Given the description of an element on the screen output the (x, y) to click on. 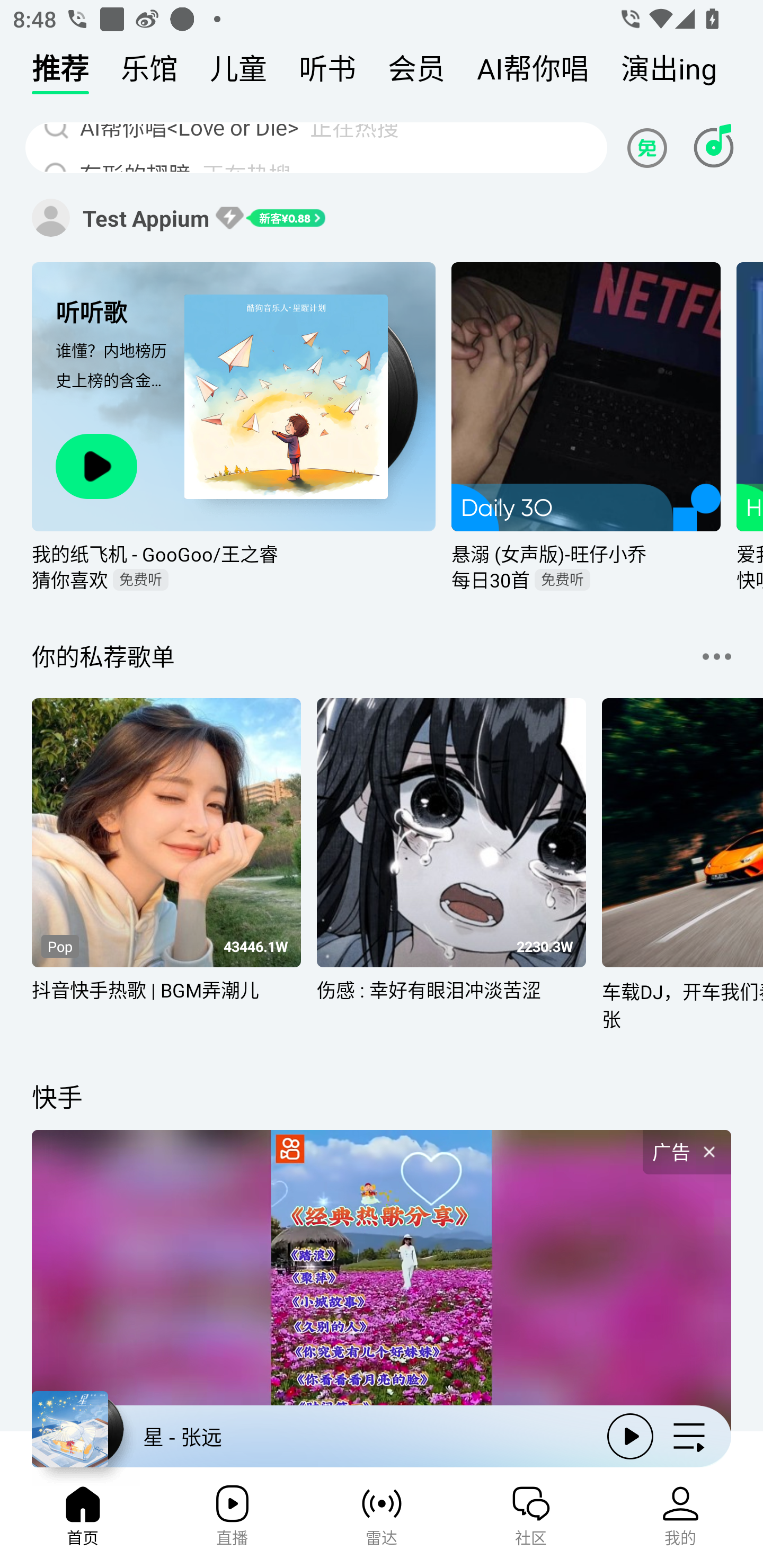
推荐 (60, 73)
乐馆 (149, 73)
儿童 (238, 73)
听书 (327, 73)
会员 (416, 73)
AI帮你唱 (532, 73)
演出ing (668, 73)
搜索 AI帮你唱<Love or Die>正在热搜 AI帮你唱<Love or Die> 正在热搜 (316, 147)
看广告免费听歌 (649, 146)
听歌识曲 (713, 146)
Test Appium (51, 217)
新客¥0.88 VIP特权 (270, 217)
Test Appium (145, 217)
听听歌 (114, 311)
谁懂？内地榜历史上榜的含金量！ (114, 381)
播放猜你喜欢 (96, 466)
我的纸飞机 - GooGoo/王之睿 (233, 553)
悬溺 (女声版)-旺仔小乔 (585, 553)
猜你喜欢免费听 (233, 579)
每日30首免费听 (585, 579)
你的私荐歌单 (103, 655)
更多 (716, 655)
43446.1W (255, 946)
2230.3W (544, 946)
Pop (59, 946)
抖音快手热歌 | BGM弄潮儿 (166, 1000)
伤感 : 幸好有眼泪冲淡苦涩 (450, 1000)
车载DJ，开车我们奏是这么嚣张 (682, 1003)
144358234 快手 广告 (381, 1256)
广告 (686, 1152)
星 - 张远 (311, 1435)
播放 (630, 1435)
歌曲队列 (688, 1435)
首页 (82, 1521)
直播 (231, 1521)
雷达 (381, 1521)
社区 (530, 1521)
我的 (680, 1521)
